Given the description of an element on the screen output the (x, y) to click on. 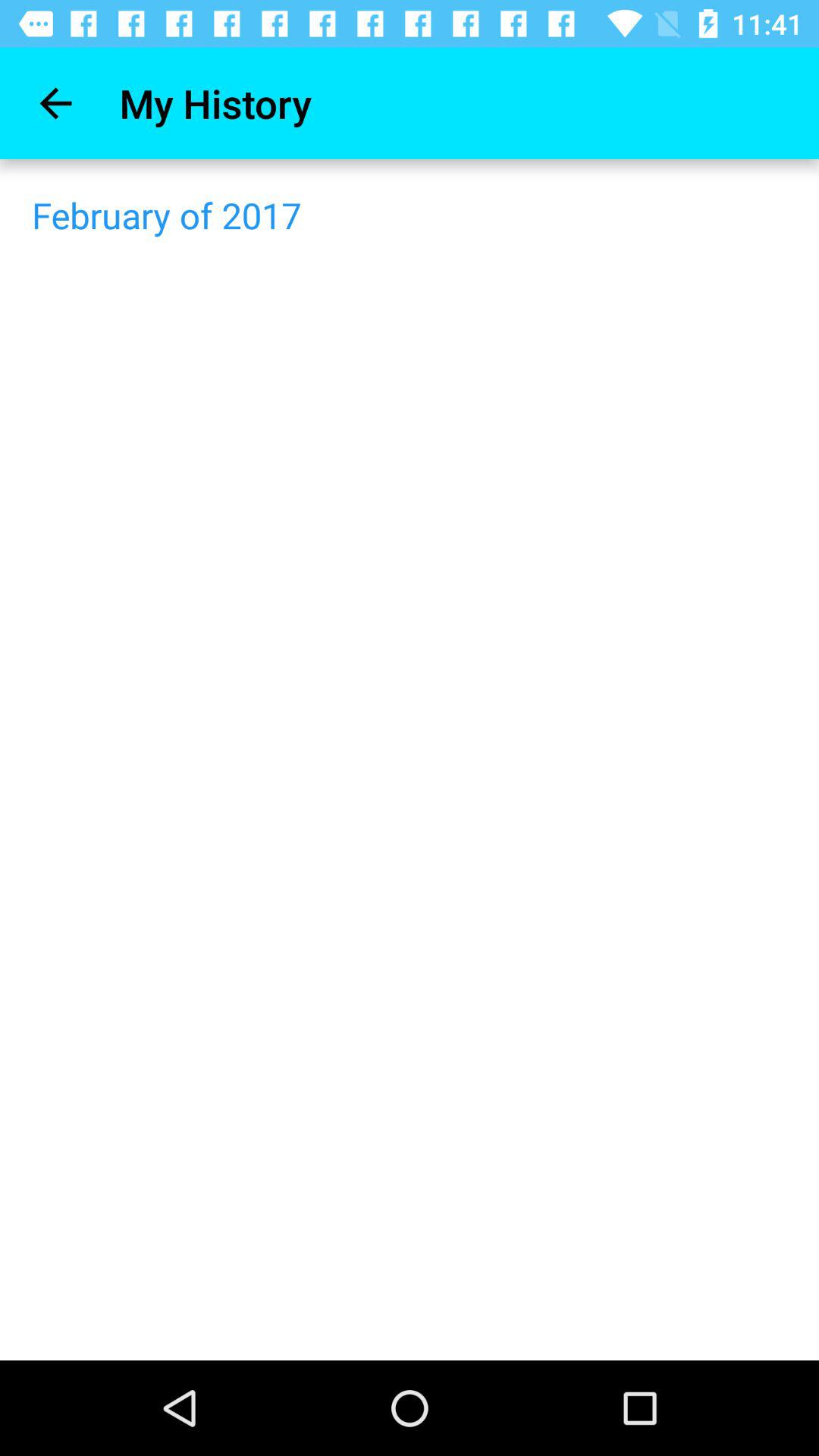
select the february of 2017 (166, 215)
